Given the description of an element on the screen output the (x, y) to click on. 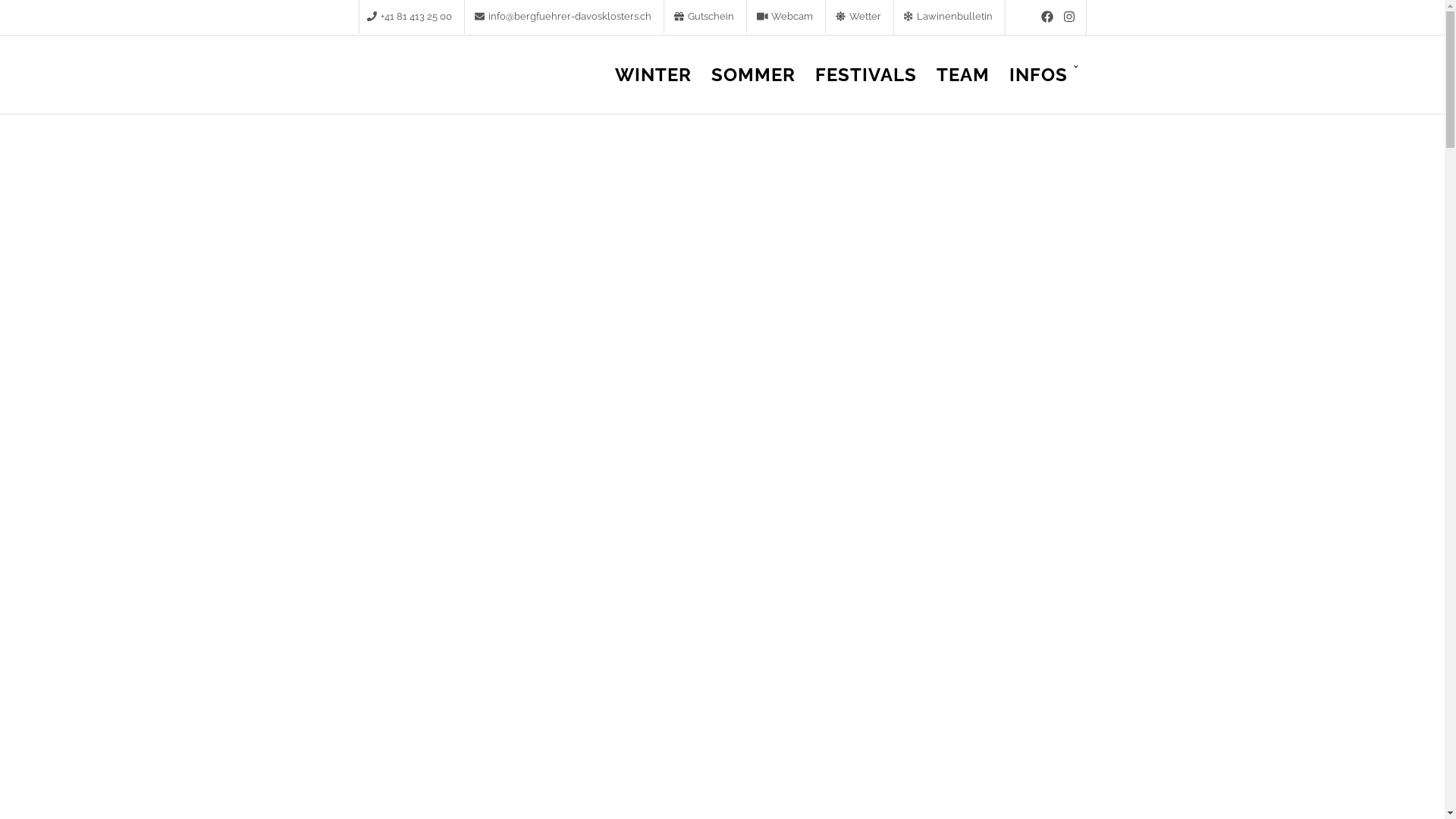
SOMMER Element type: text (753, 85)
Instagram Element type: hover (1068, 16)
Lawinenbulletin Element type: text (949, 15)
INFOS Element type: text (1043, 85)
WINTER Element type: text (652, 85)
FESTIVALS Element type: text (864, 85)
info@bergfuehrer-davosklosters.ch Element type: text (564, 15)
Gutschein Element type: text (705, 15)
Wetter Element type: text (860, 15)
+41 81 413 25 00 Element type: text (411, 15)
Webcam Element type: text (787, 15)
TEAM Element type: text (962, 85)
